Given the description of an element on the screen output the (x, y) to click on. 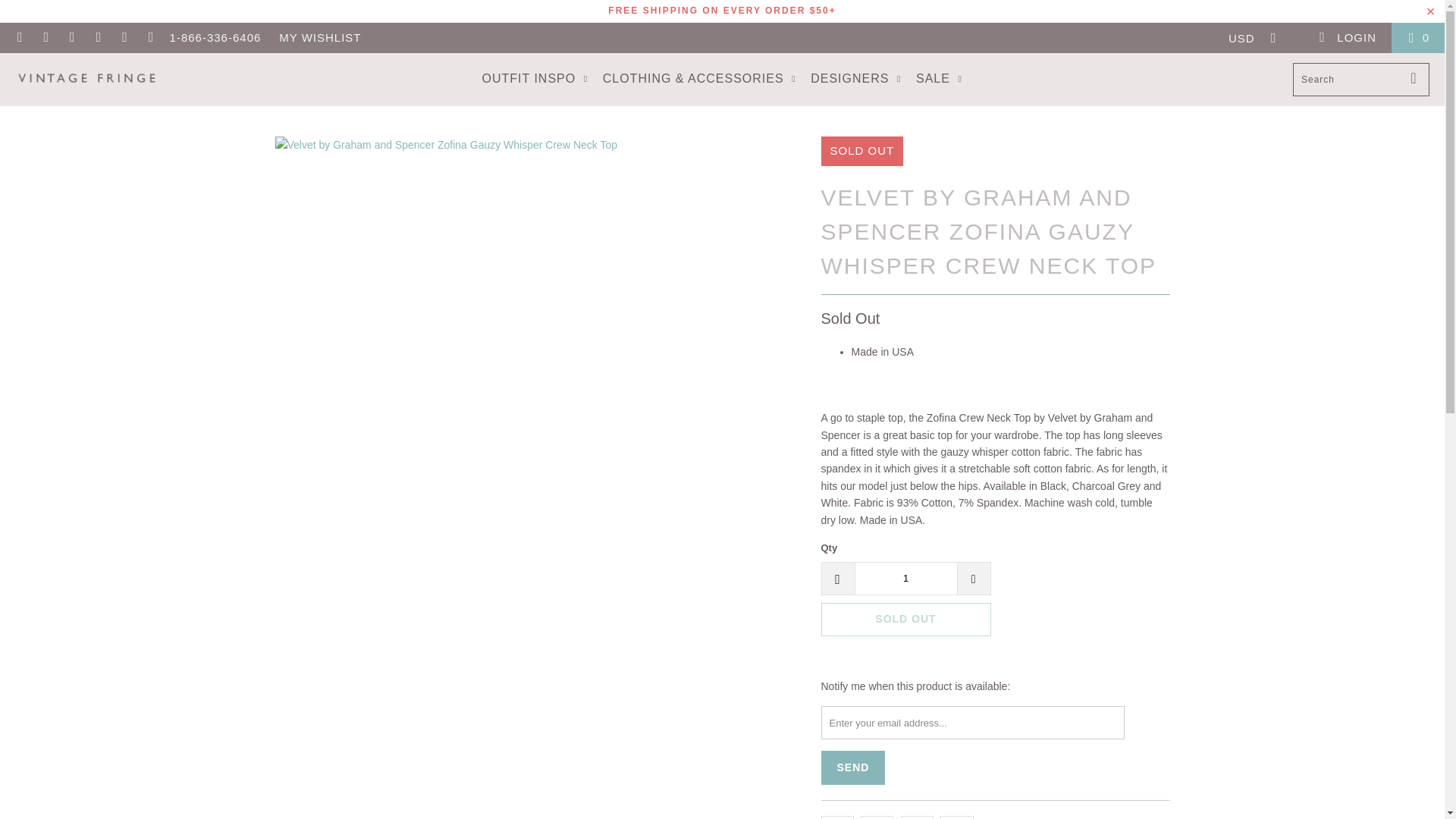
My Account  (1346, 37)
Vintage Fringe on Facebook (45, 37)
Vintage Fringe on Pinterest (98, 37)
Vintage Fringe (84, 79)
Email this to a friend (956, 817)
Share this on Pinterest (917, 817)
Share this on Twitter (837, 817)
Vintage Fringe on Twitter (19, 37)
Send (853, 767)
1 (904, 578)
Vintage Fringe on YouTube (72, 37)
Vintage Fringe on Instagram (124, 37)
Share this on Facebook (876, 817)
Email Vintage Fringe (150, 37)
